Given the description of an element on the screen output the (x, y) to click on. 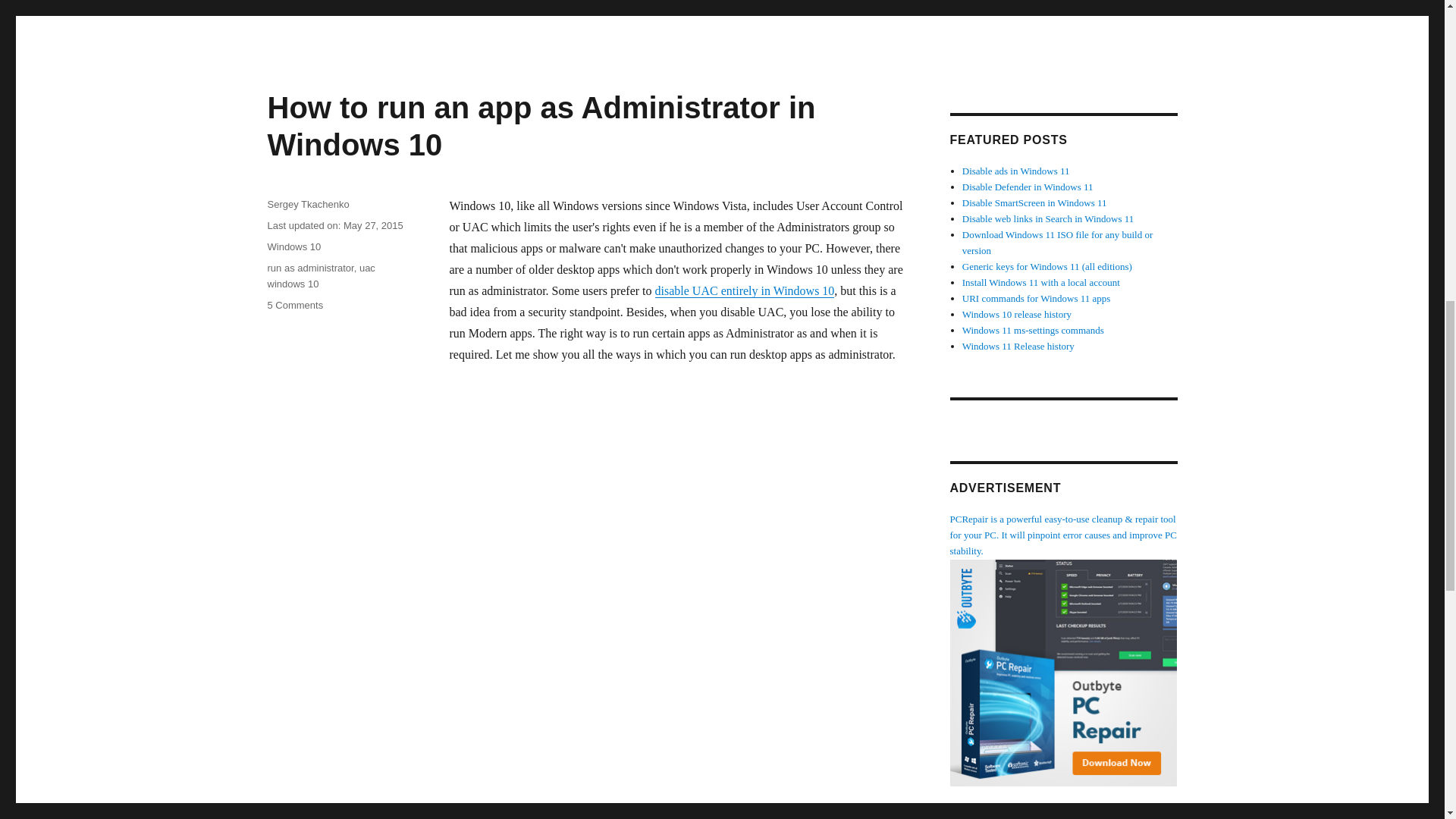
disable UAC entirely in Windows 10 (744, 290)
Disable web links in Search in Windows 11 (1048, 218)
Advertisement (1079, 32)
run as administrator (309, 267)
Windows 10 (293, 246)
Install Windows 11 with a local account (1040, 282)
uac windows 10 (320, 275)
Disable Defender in Windows 11 (1027, 186)
Sergey Tkachenko (307, 204)
How to run an app as Administrator in Windows 10 (540, 125)
Download Windows 11 ISO file for any build or version (1057, 242)
Disable SmartScreen in Windows 11 (1034, 202)
Disable ads in Windows 11 (1016, 170)
URI commands for Windows 11 apps (1036, 297)
